Given the description of an element on the screen output the (x, y) to click on. 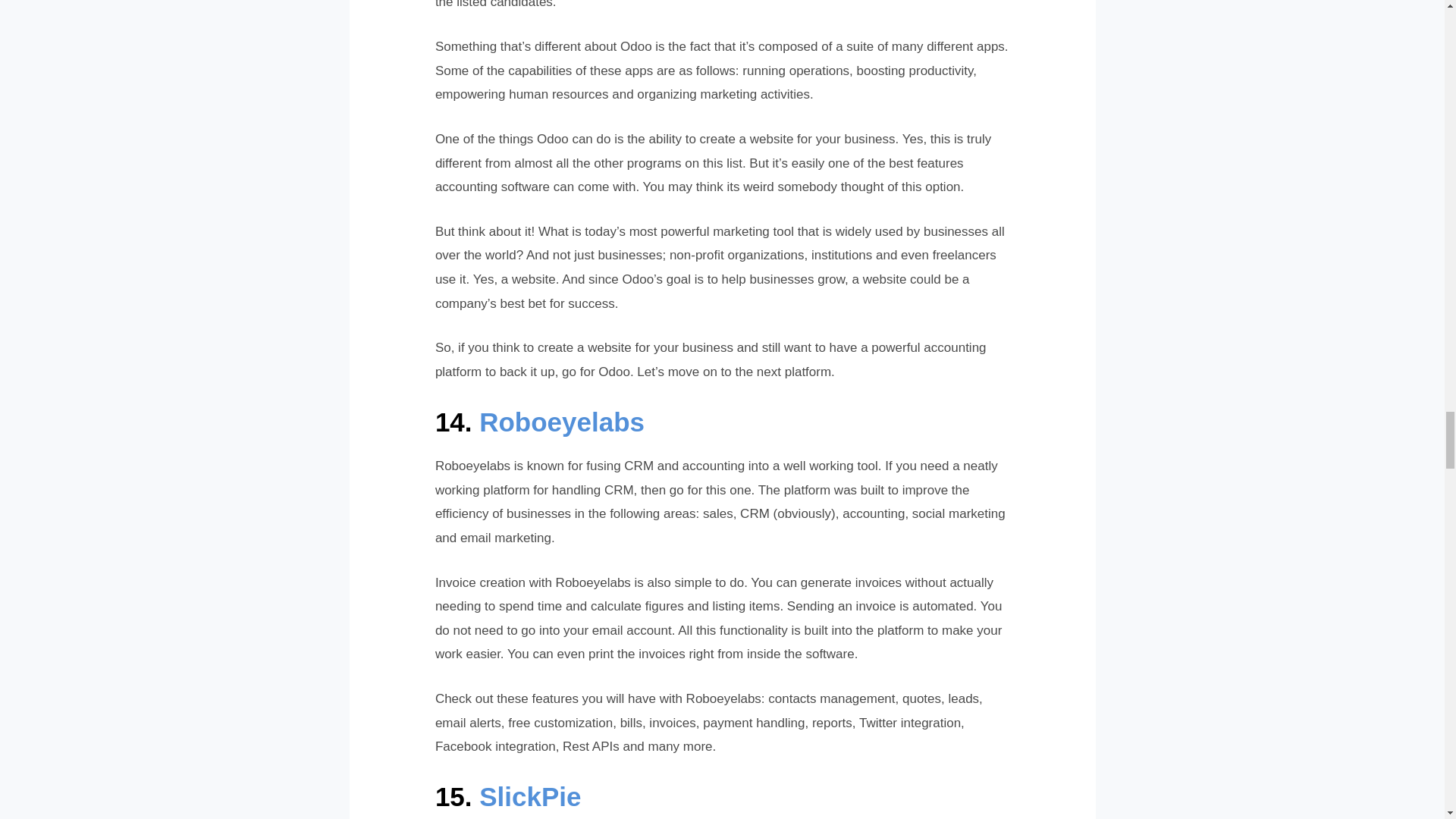
SlickPie (529, 796)
Roboeyelabs (562, 421)
